Given the description of an element on the screen output the (x, y) to click on. 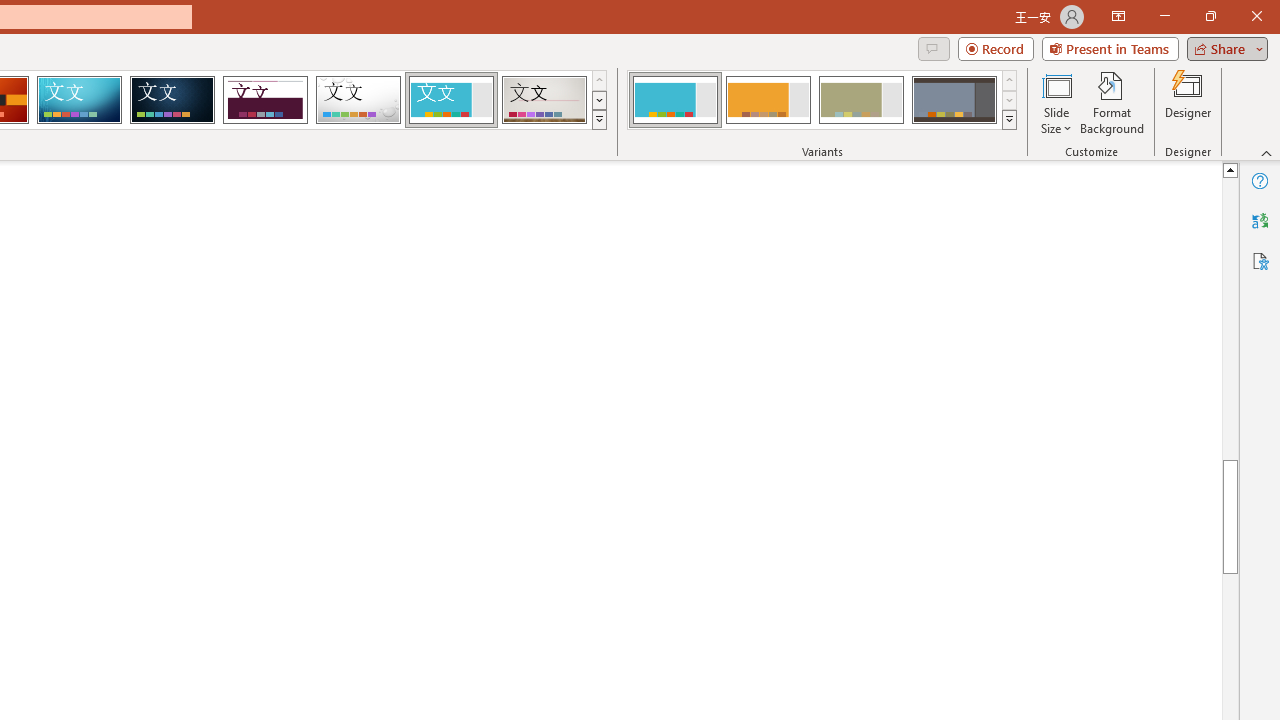
Slide Size (1056, 102)
Droplet (358, 100)
Circuit (79, 100)
Frame Variant 3 (861, 100)
Damask (171, 100)
